Given the description of an element on the screen output the (x, y) to click on. 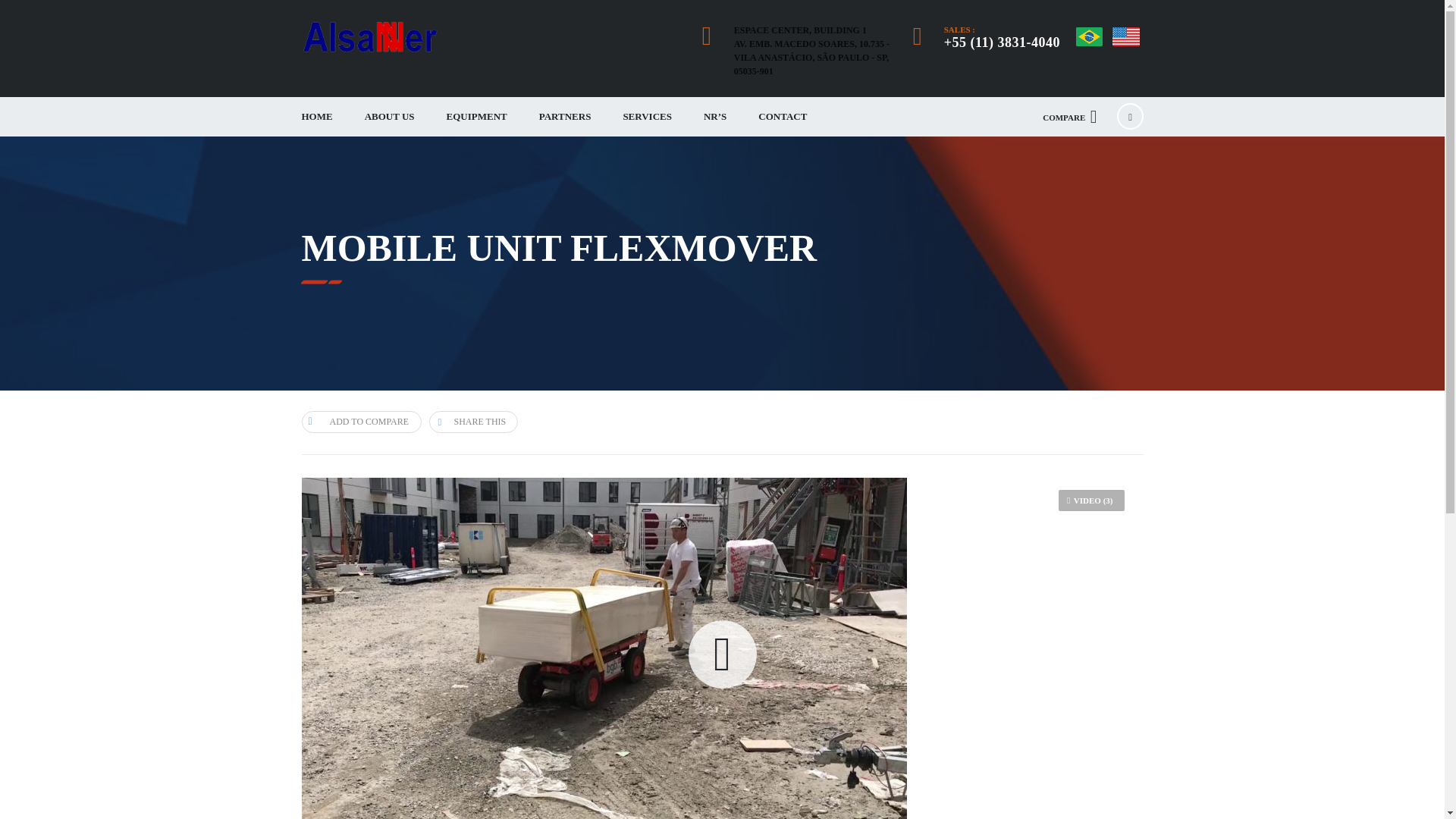
EQUIPMENT (476, 116)
Home (369, 37)
HOME (316, 116)
PARTNERS (564, 116)
Share this (473, 422)
Watch compared (1069, 116)
COMPARE (1069, 116)
ABOUT US (389, 116)
